Given the description of an element on the screen output the (x, y) to click on. 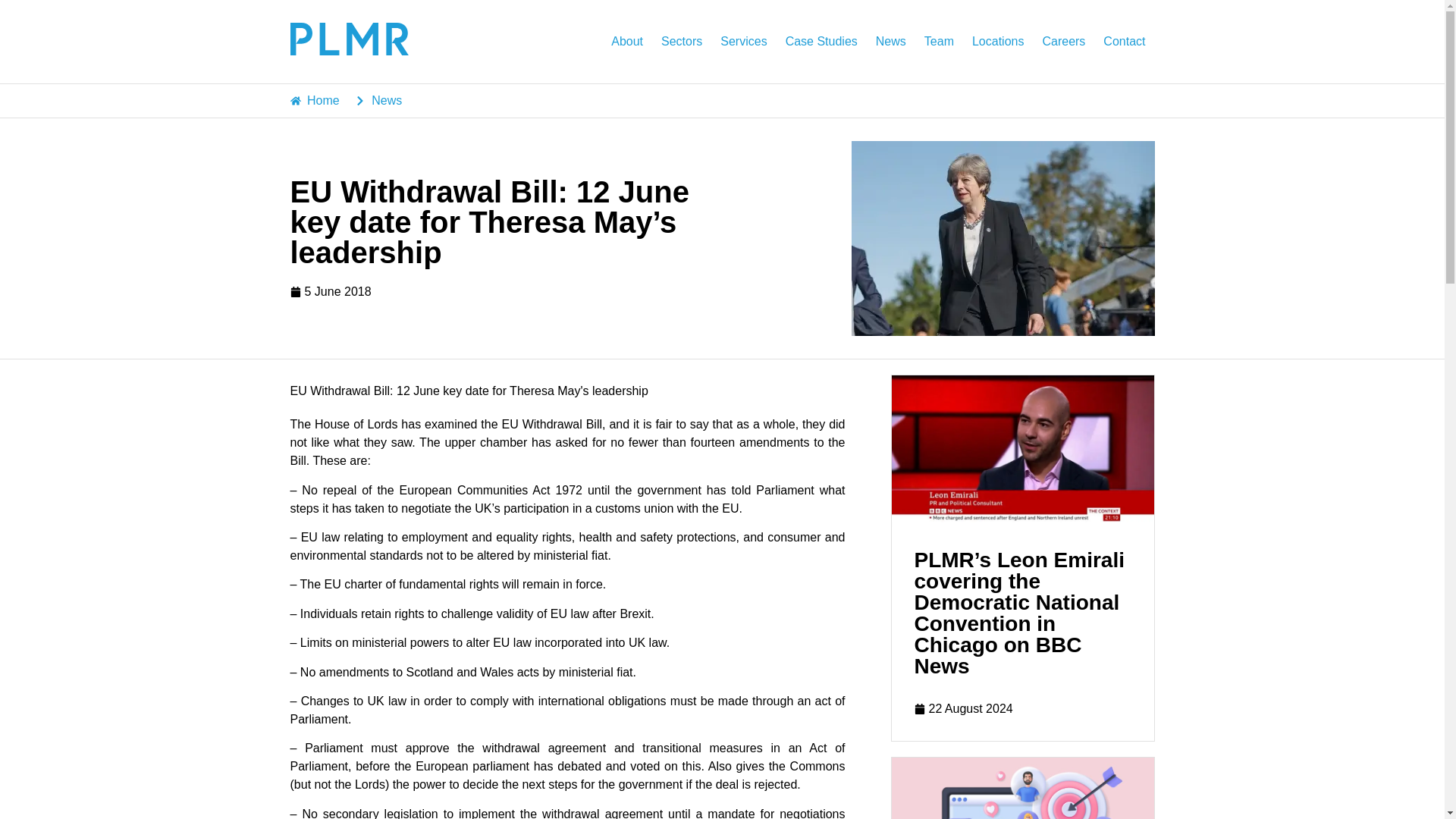
Case Studies (821, 41)
Team (938, 41)
Home (314, 100)
News (379, 100)
About (627, 41)
Locations (997, 41)
Services (743, 41)
News (890, 41)
Careers (1063, 41)
Sectors (681, 41)
